Given the description of an element on the screen output the (x, y) to click on. 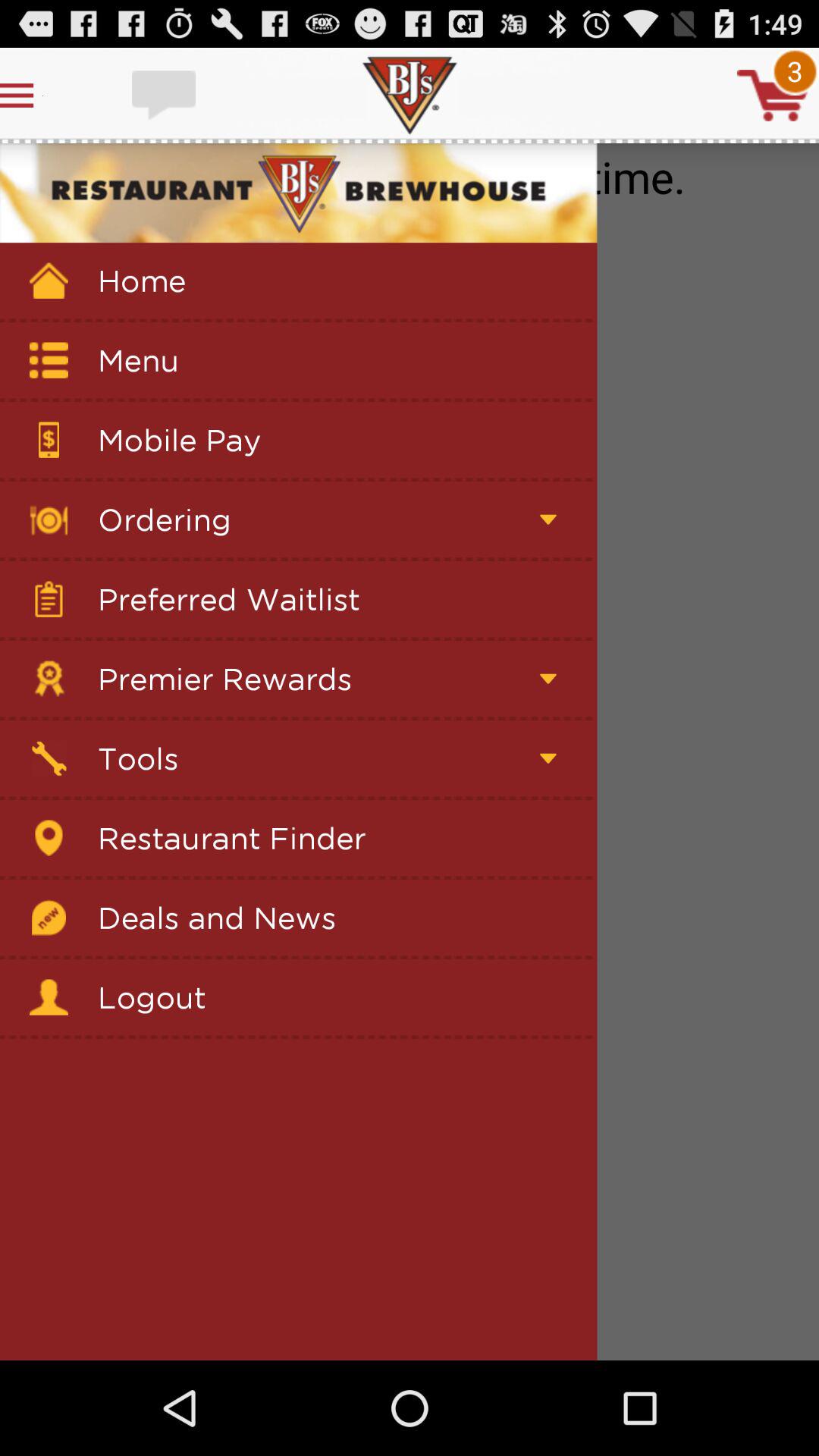
turn off item above the sorry no notifications item (772, 95)
